Given the description of an element on the screen output the (x, y) to click on. 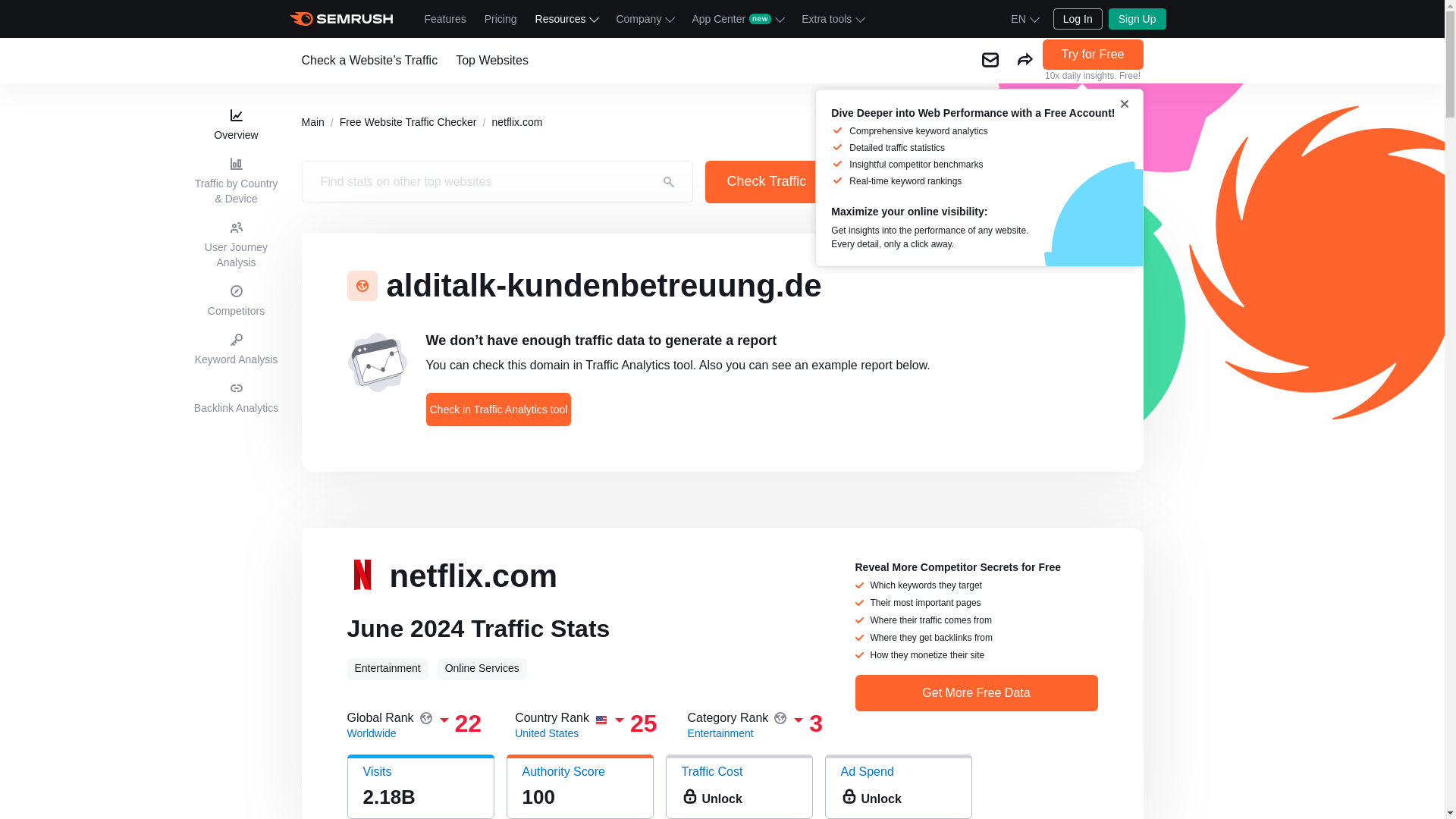
App Center (737, 18)
Features (445, 18)
Extra tools (832, 18)
Company (644, 18)
Pricing (500, 18)
Resources (566, 18)
